Given the description of an element on the screen output the (x, y) to click on. 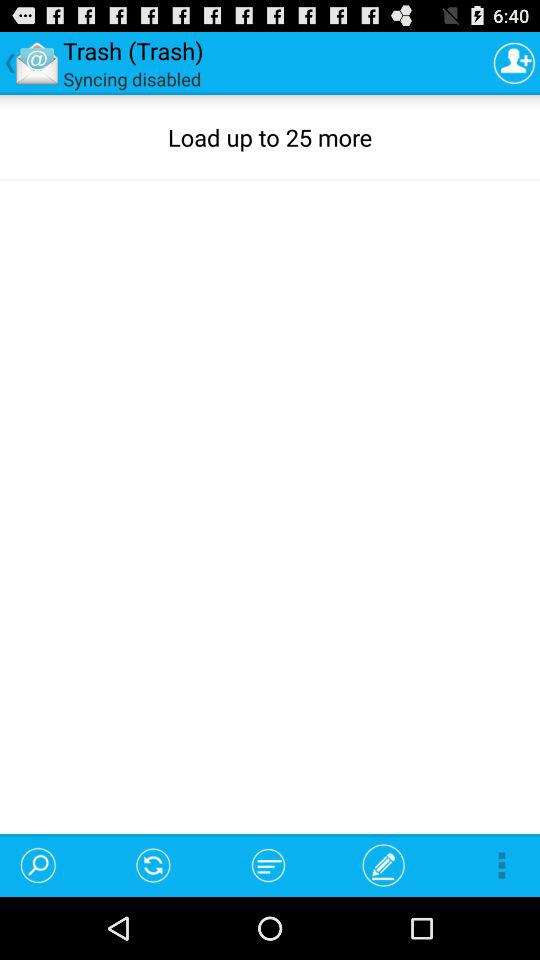
launch the item at the top right corner (514, 62)
